Given the description of an element on the screen output the (x, y) to click on. 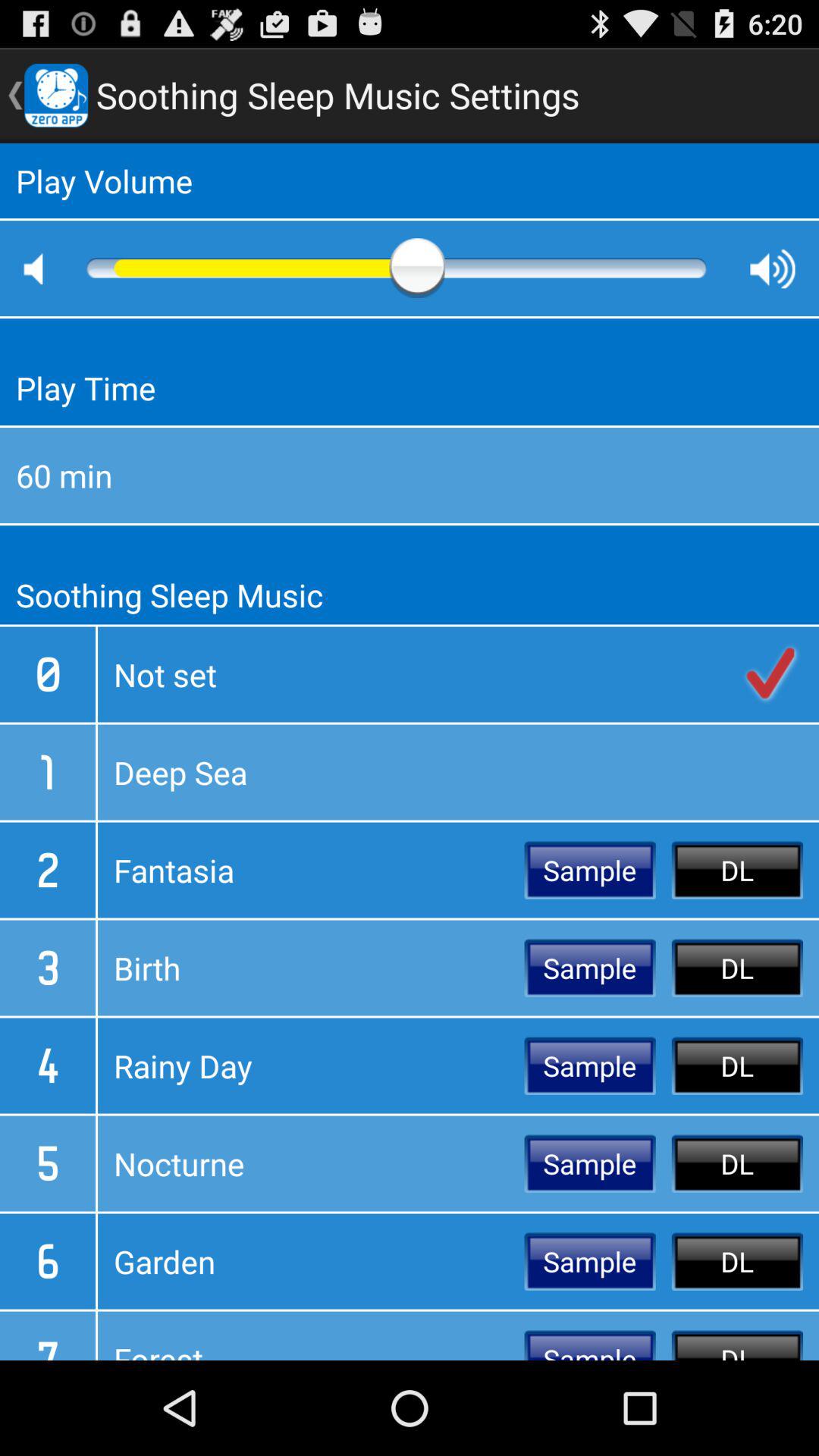
swipe until the fantasia icon (310, 869)
